Given the description of an element on the screen output the (x, y) to click on. 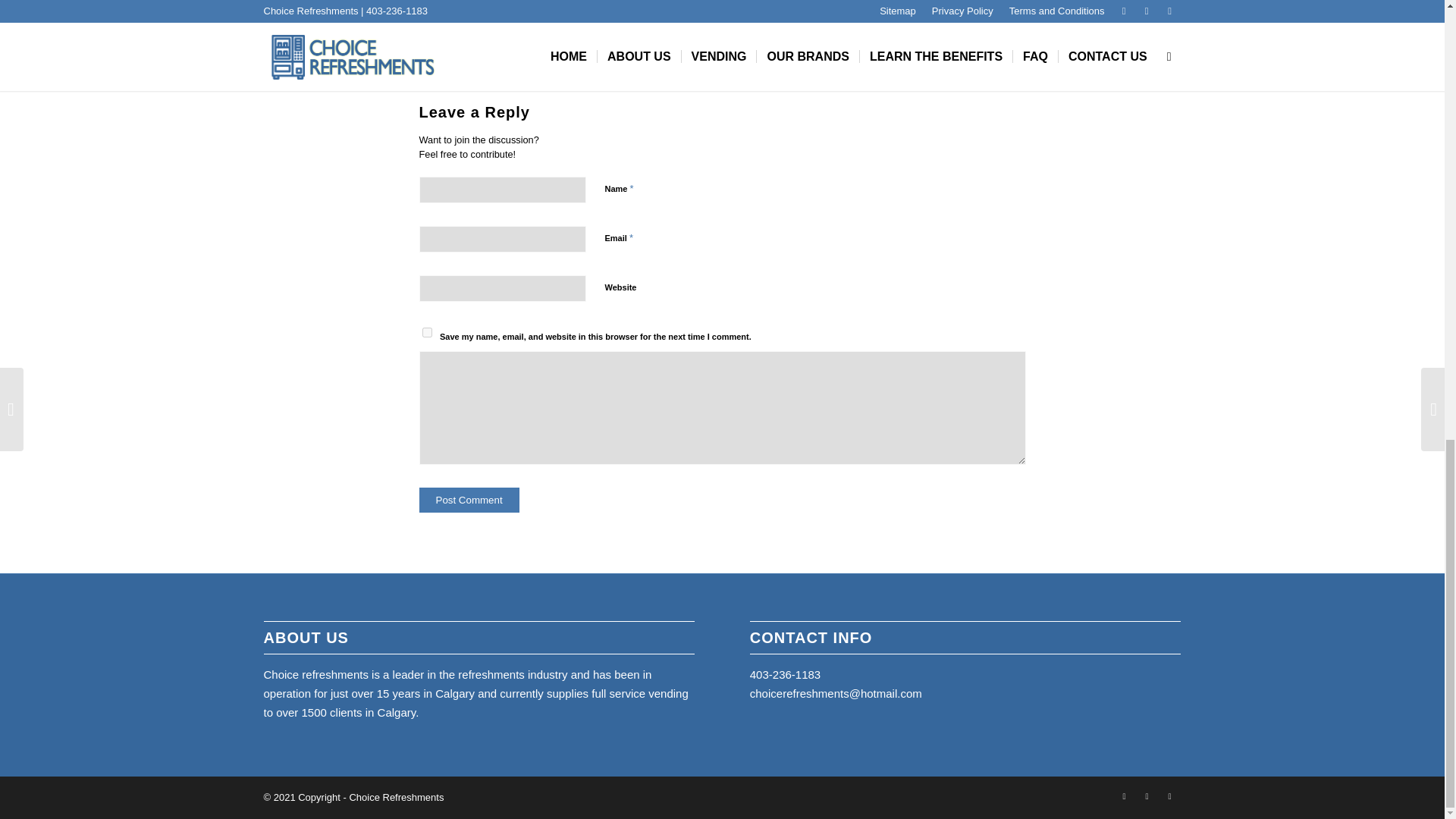
Post Comment (468, 499)
Post Comment (468, 499)
yes (426, 332)
